Given the description of an element on the screen output the (x, y) to click on. 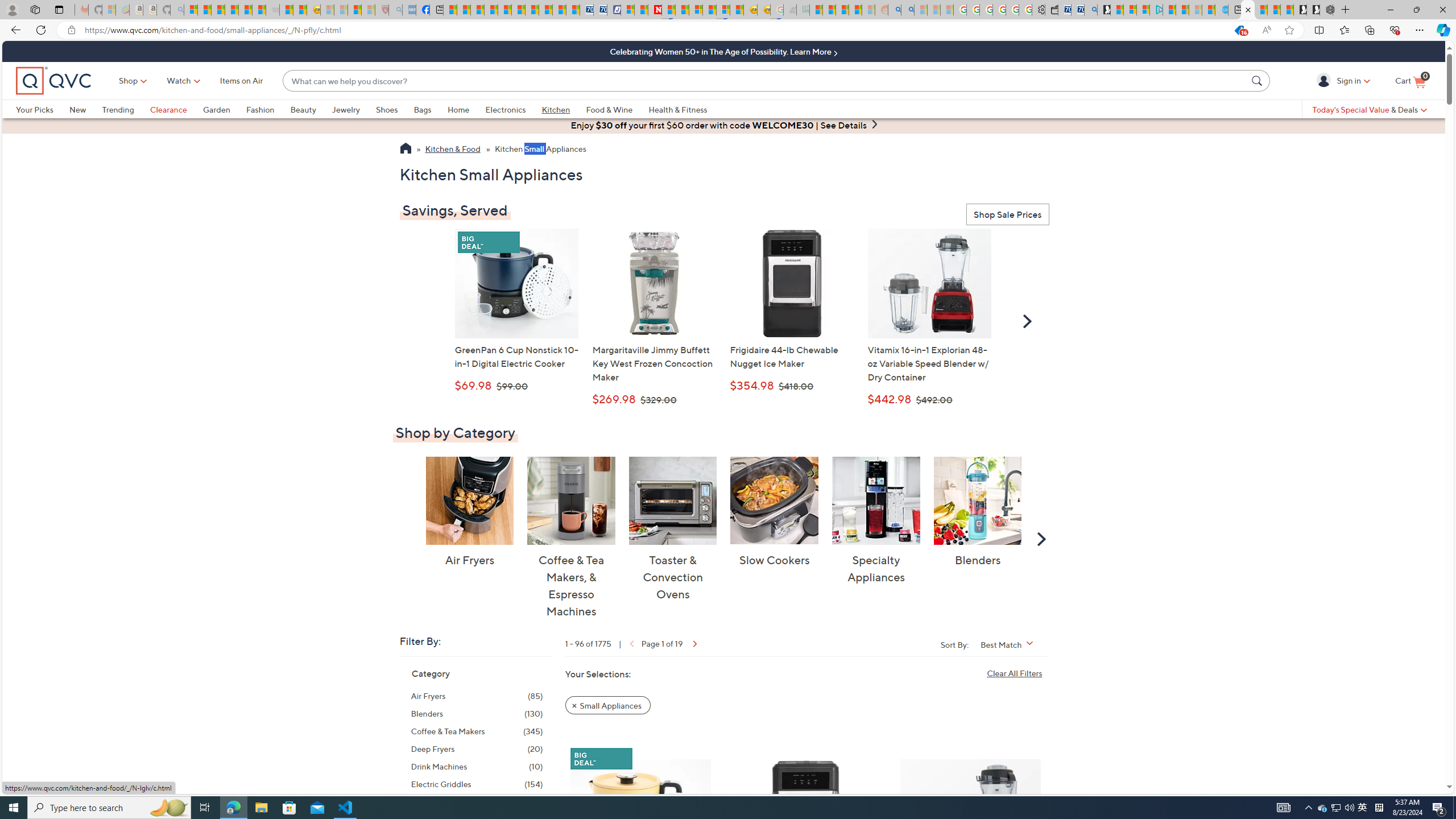
Kitchen (555, 109)
Scroll Right (1041, 537)
New Report Confirms 2023 Was Record Hot | Watch (245, 9)
Food & Wine (609, 109)
Your Picks (34, 109)
Jewelry (353, 109)
Kitchen Small Appliances (539, 149)
